Given the description of an element on the screen output the (x, y) to click on. 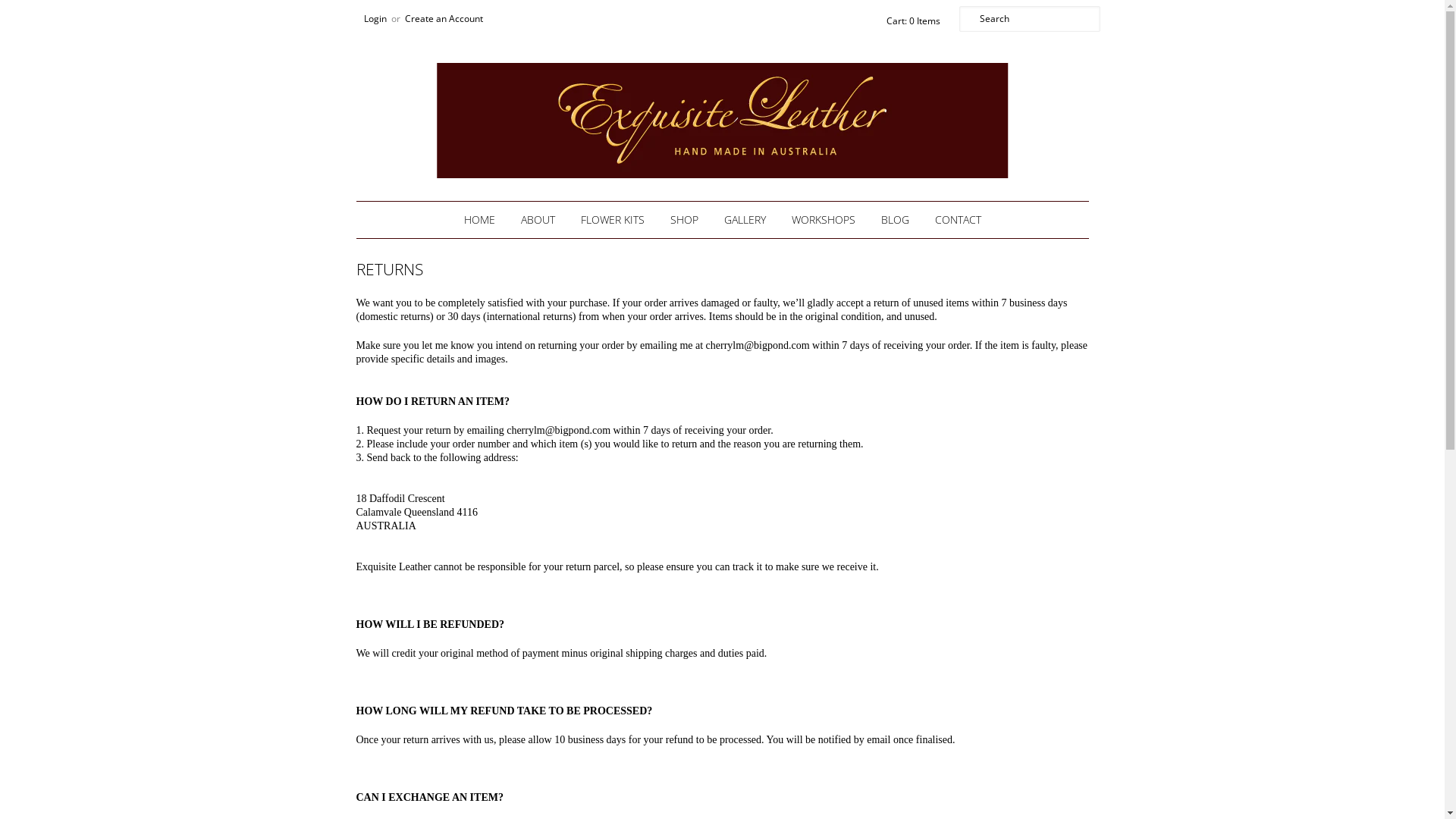
ABOUT Element type: text (537, 219)
WORKSHOPS Element type: text (822, 219)
HOME Element type: text (478, 219)
BLOG Element type: text (894, 219)
SHOP Element type: text (683, 219)
FLOWER KITS Element type: text (611, 219)
Login Element type: text (375, 18)
Cart: 0 Items Element type: text (910, 20)
Create an Account Element type: text (443, 18)
CONTACT Element type: text (957, 219)
GALLERY Element type: text (744, 219)
